Given the description of an element on the screen output the (x, y) to click on. 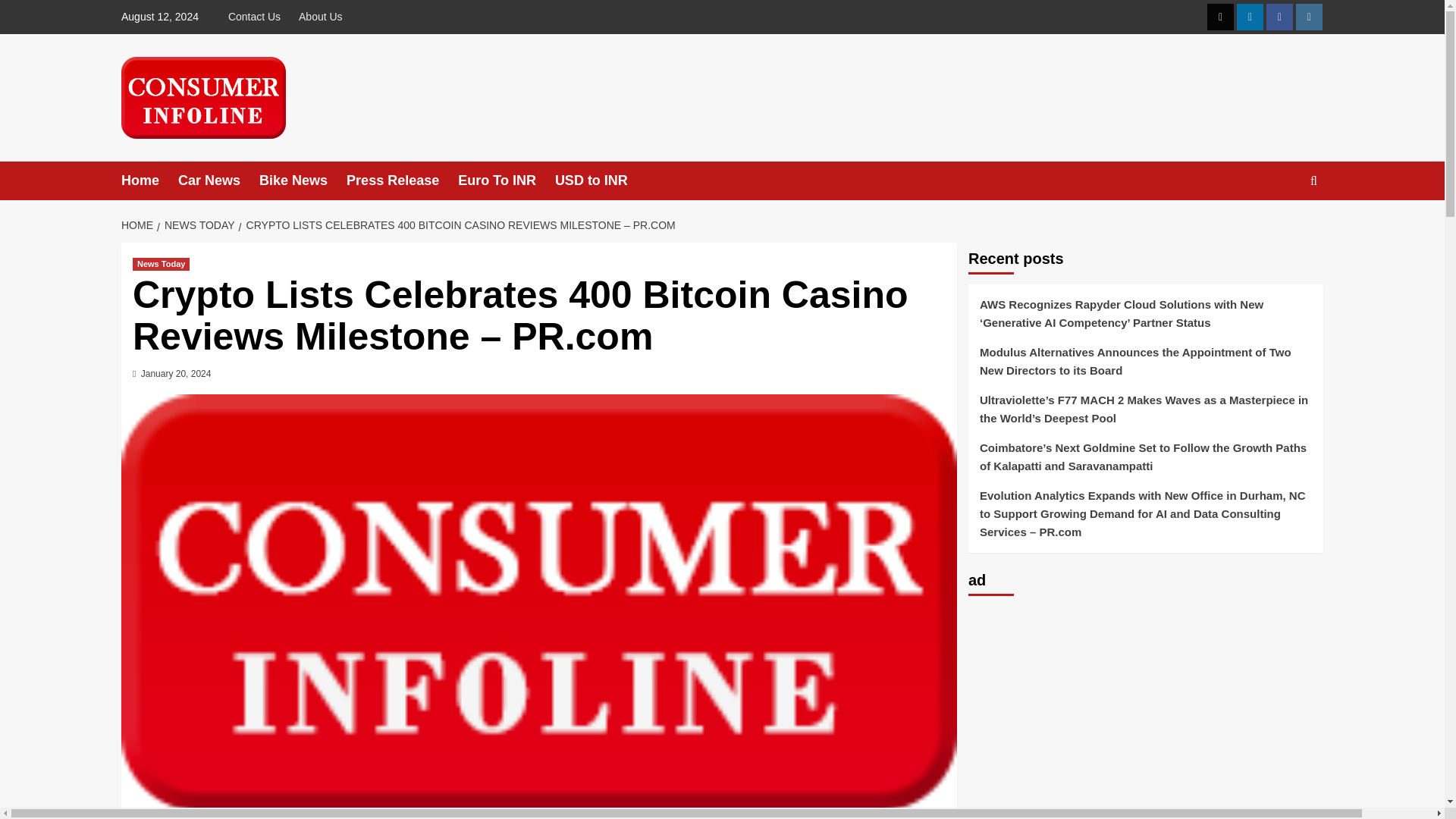
January 20, 2024 (176, 373)
Instagram (1308, 17)
Bike News (302, 180)
Euro To INR (506, 180)
News Today (160, 264)
Search (1278, 227)
Linkedin (1249, 17)
About Us (320, 17)
NEWS TODAY (197, 224)
